Given the description of an element on the screen output the (x, y) to click on. 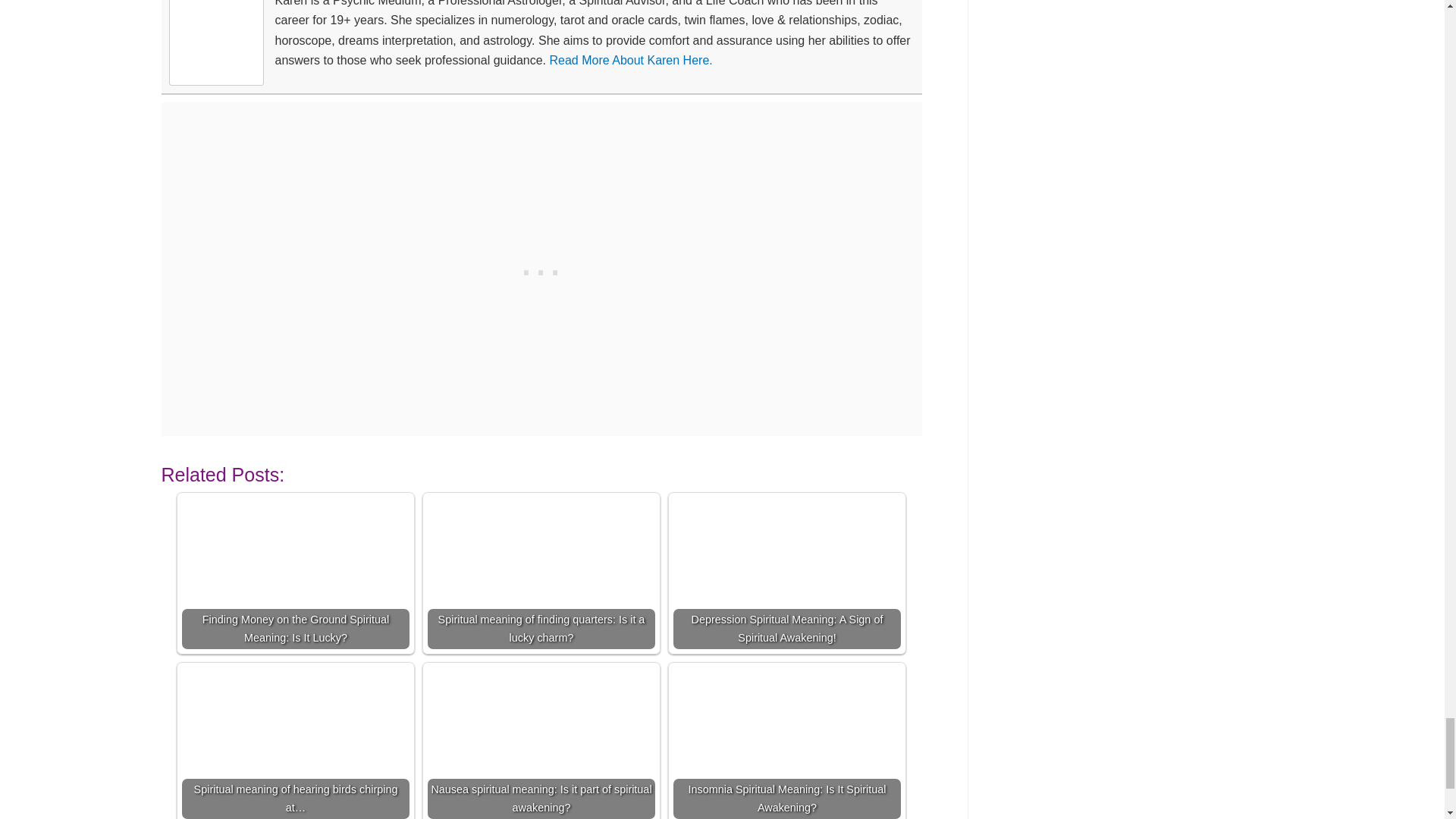
Spiritual meaning of finding quarters: Is it a lucky charm? (541, 573)
Insomnia Spiritual Meaning: Is It Spiritual Awakening? (786, 743)
Finding Money on the Ground Spiritual Meaning: Is It Lucky? (295, 573)
Nausea spiritual meaning: Is it part of spiritual awakening? (541, 743)
Depression Spiritual Meaning: A Sign of Spiritual Awakening! (786, 573)
